Given the description of an element on the screen output the (x, y) to click on. 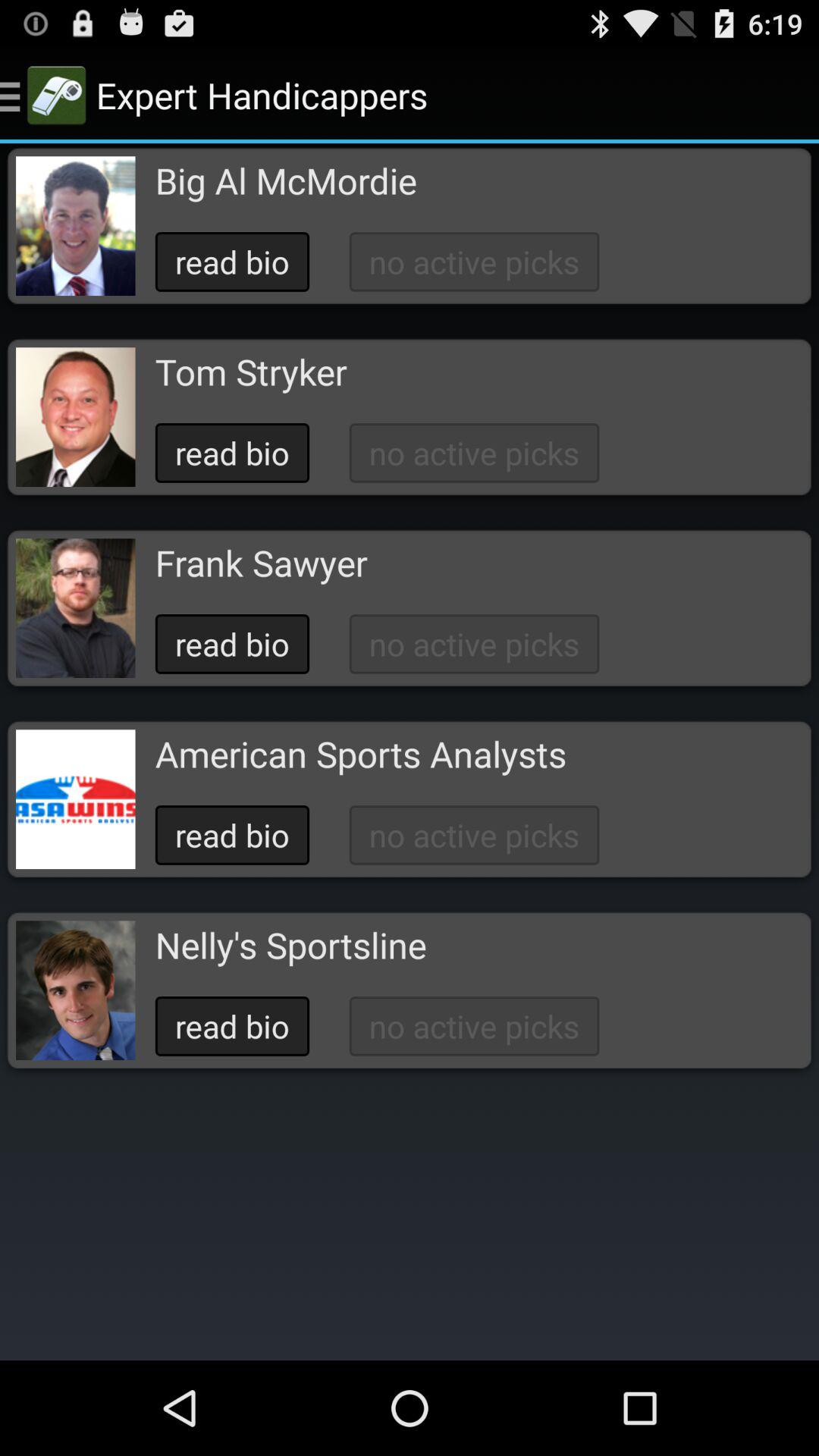
turn on the nelly's sportsline app (290, 944)
